Given the description of an element on the screen output the (x, y) to click on. 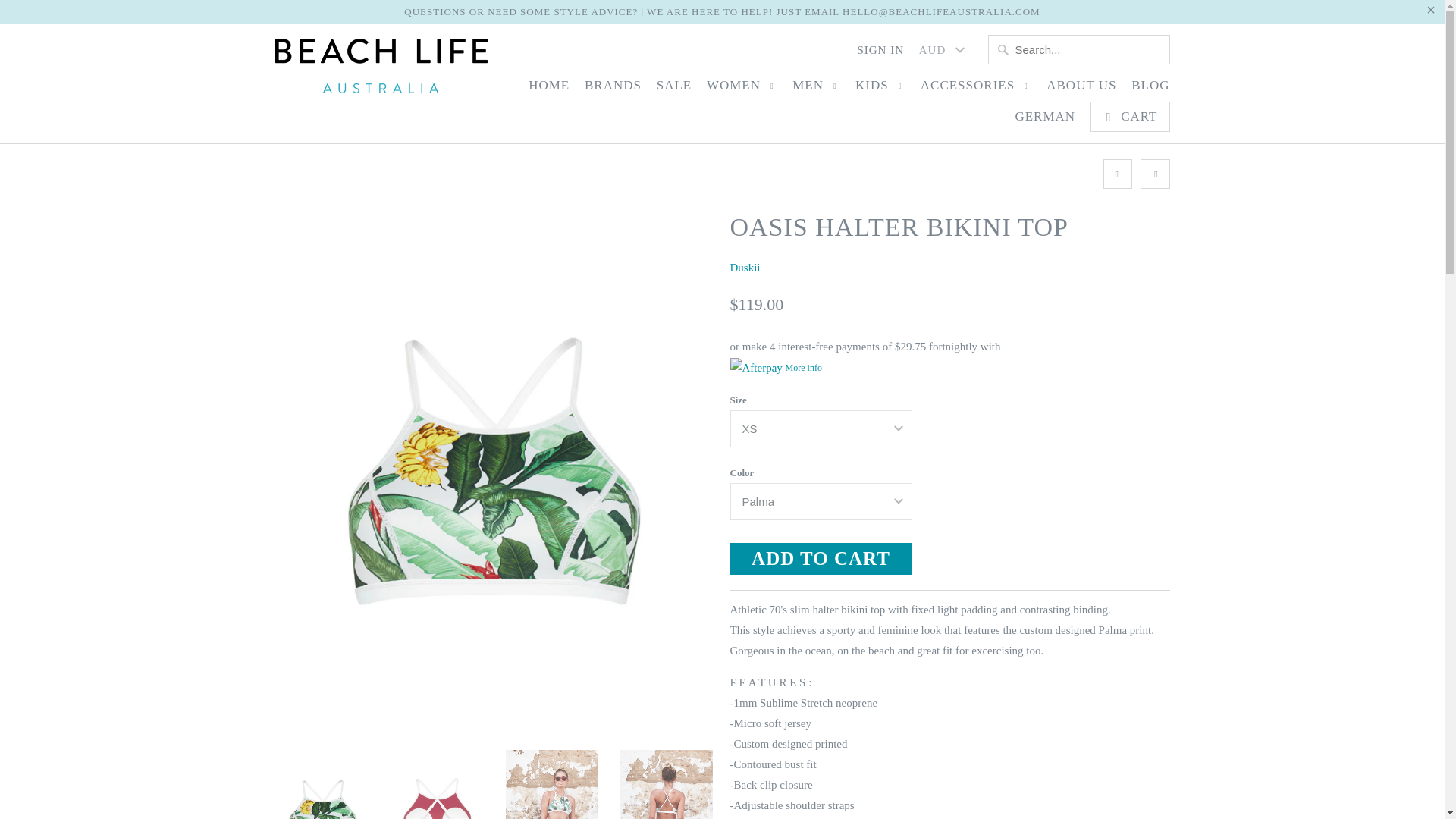
WOMEN (741, 89)
SIGN IN (880, 53)
Beach Life Australia (380, 69)
HOME (548, 88)
Cart (1130, 116)
SALE (674, 88)
BRANDS (613, 88)
